Given the description of an element on the screen output the (x, y) to click on. 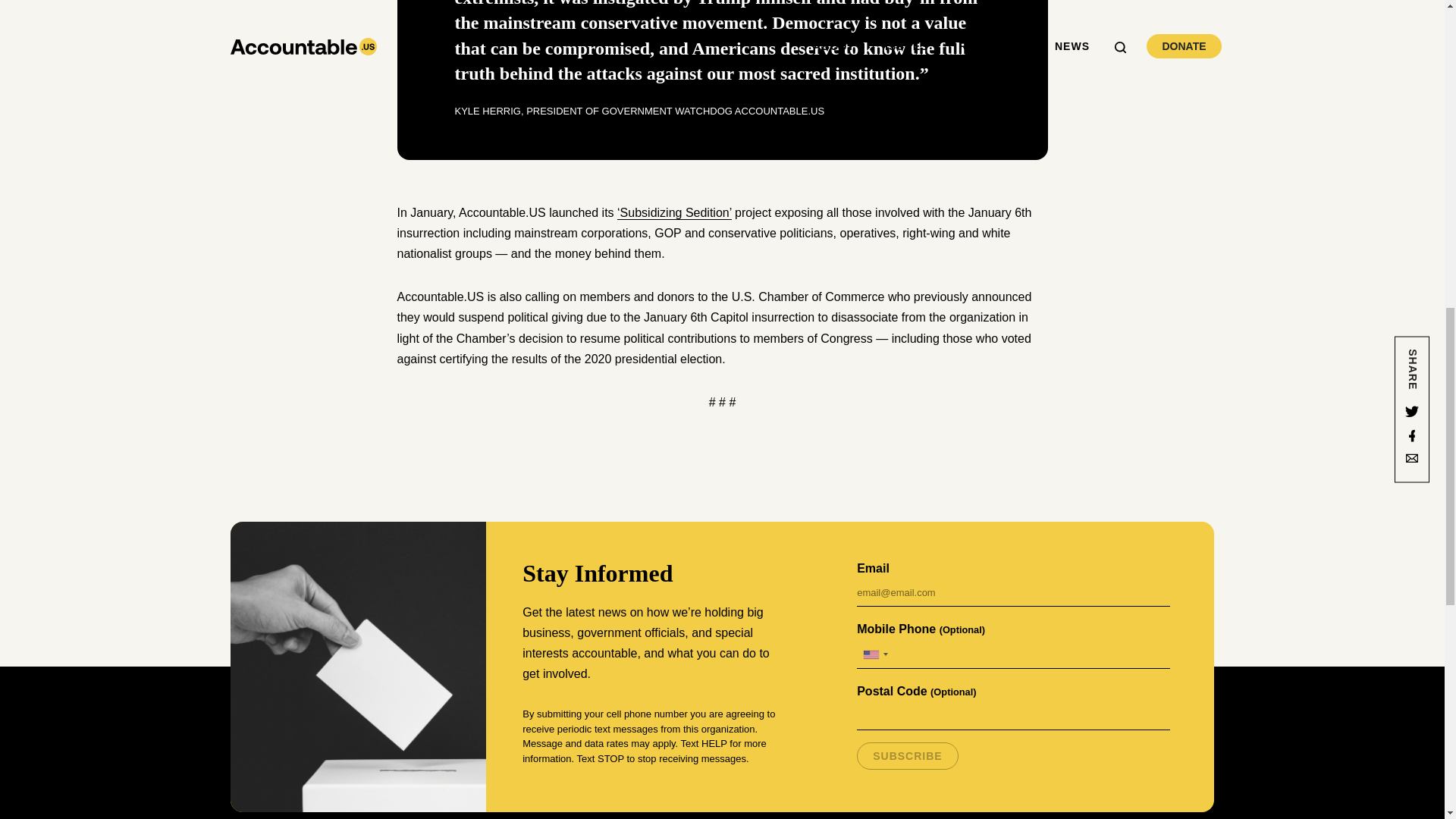
Postal Code (1013, 715)
Subscribe (907, 755)
Subscribe (907, 755)
Mobile Phone (1013, 653)
